Given the description of an element on the screen output the (x, y) to click on. 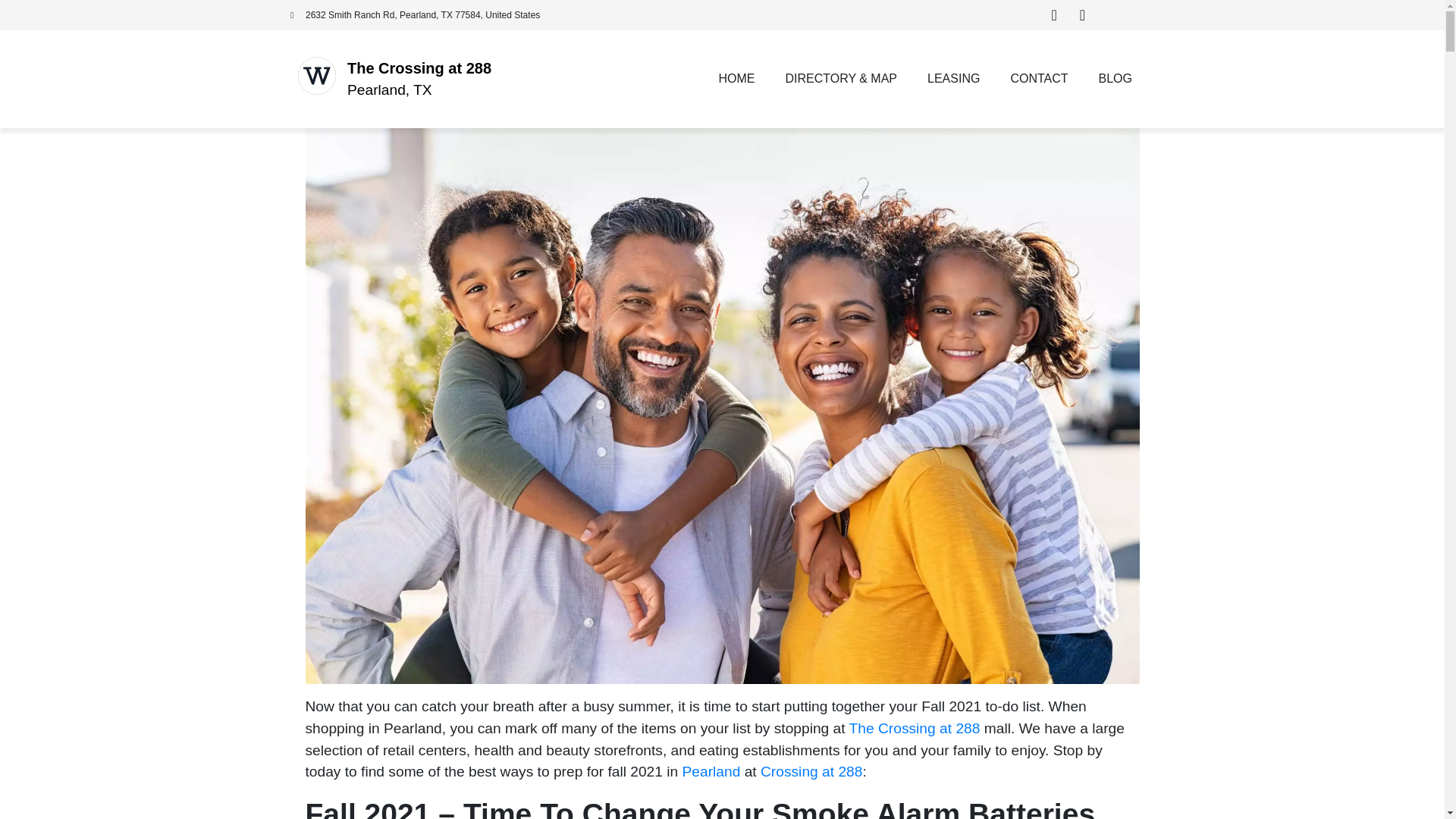
The Crossing at 288 (913, 728)
BLOG (1115, 78)
Get Ready for Fall 2021 in Pearland at The Crossing at 288 (721, 404)
LEASING (953, 78)
HOME (736, 78)
The Crossing at 288 (419, 67)
CONTACT (1038, 78)
Crossing at 288 (810, 771)
Pearland (708, 771)
